Given the description of an element on the screen output the (x, y) to click on. 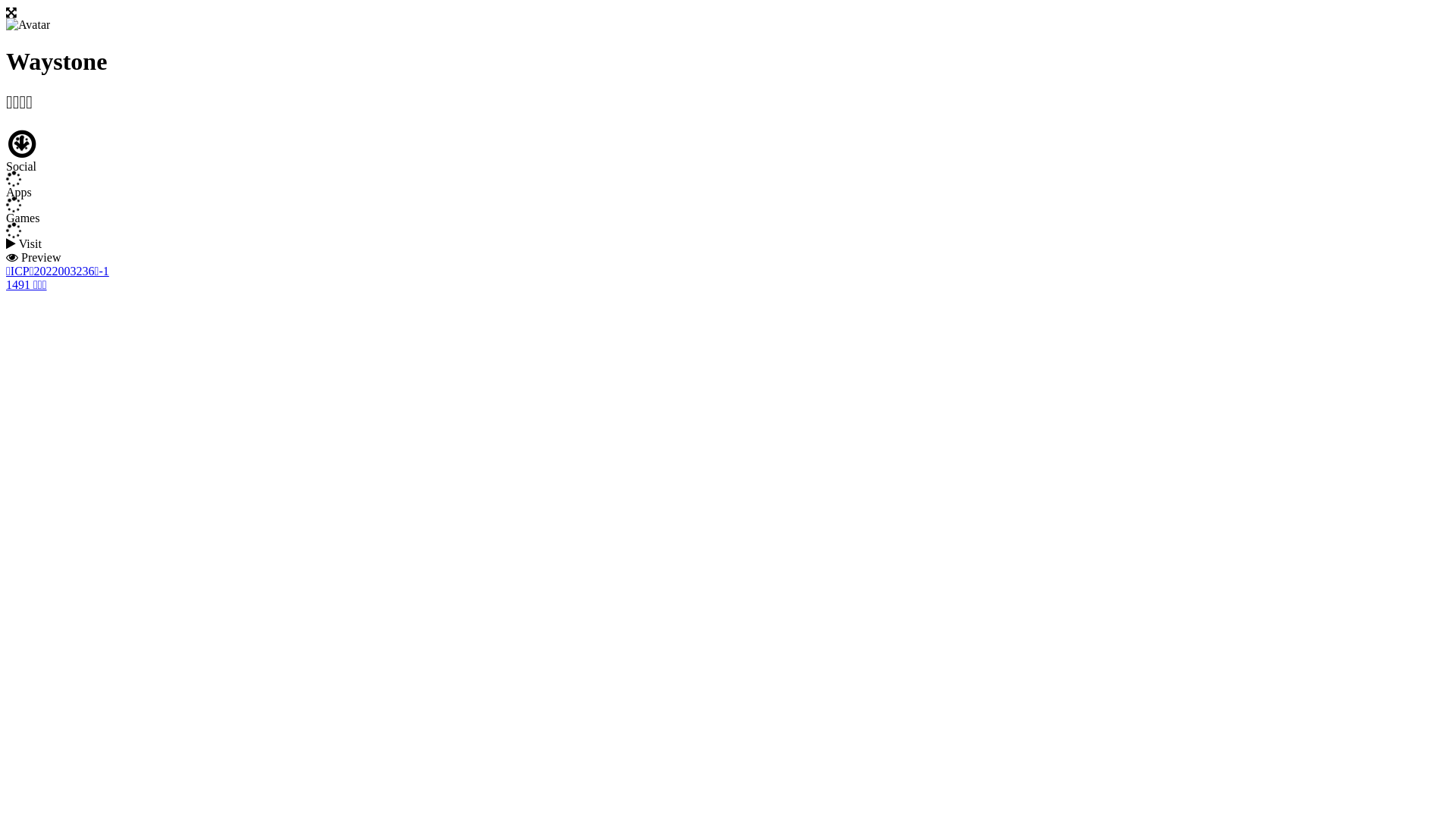
Avatar Element type: hover (28, 24)
